Given the description of an element on the screen output the (x, y) to click on. 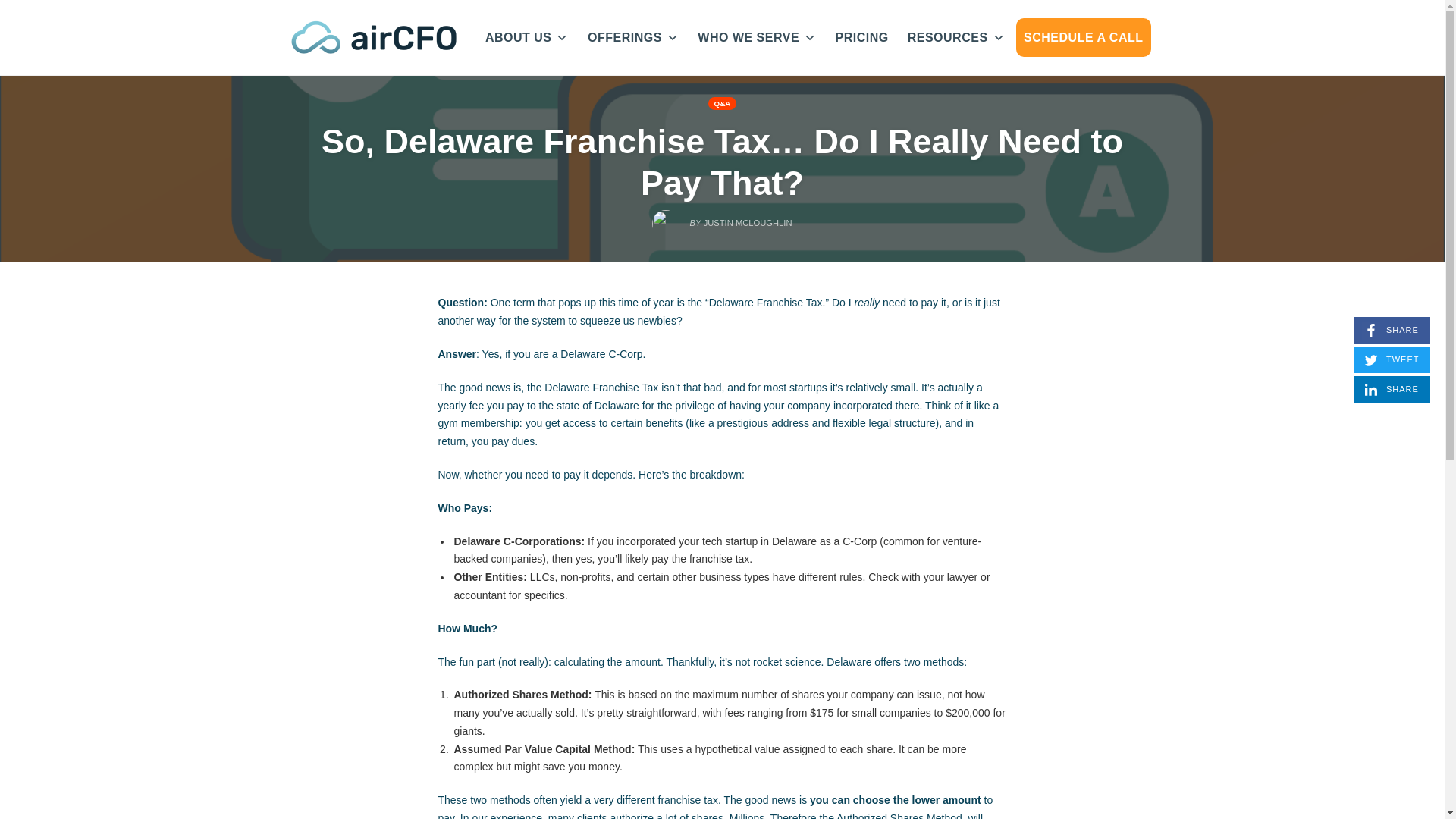
airCFO (1391, 388)
SCHEDULE A CALL (373, 37)
BY JUSTIN MCLOUGHLIN (1083, 37)
